Given the description of an element on the screen output the (x, y) to click on. 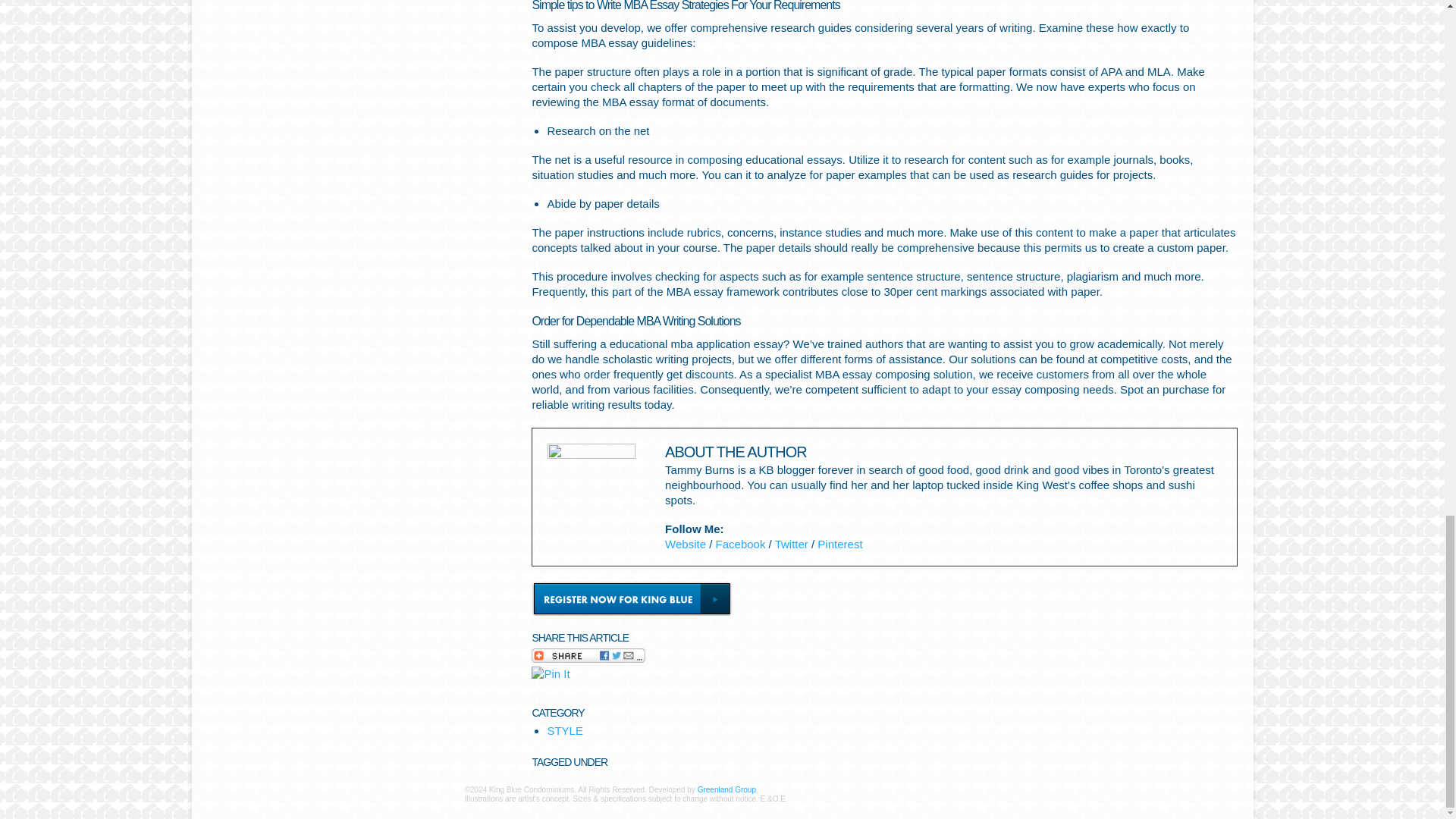
Facebook (740, 543)
Register for King Blue Condominiums (631, 598)
STYLE (565, 730)
Twitter (791, 543)
Pinterest (838, 543)
Register for King Blue Condominiums (631, 598)
Website (685, 543)
Pin It (550, 673)
Greenland Group (726, 789)
Greenland Group (726, 789)
